Given the description of an element on the screen output the (x, y) to click on. 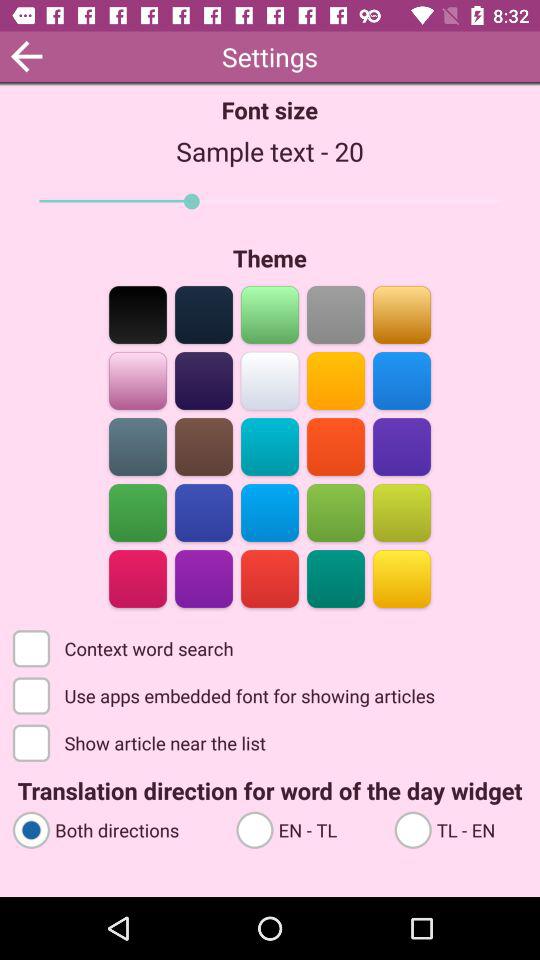
change theme to orange (335, 379)
